Given the description of an element on the screen output the (x, y) to click on. 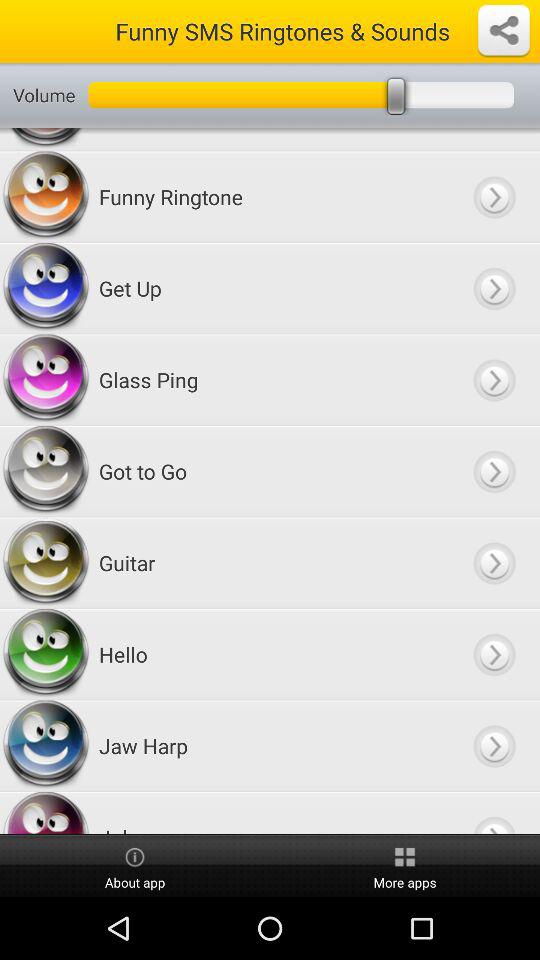
go to next (494, 471)
